Given the description of an element on the screen output the (x, y) to click on. 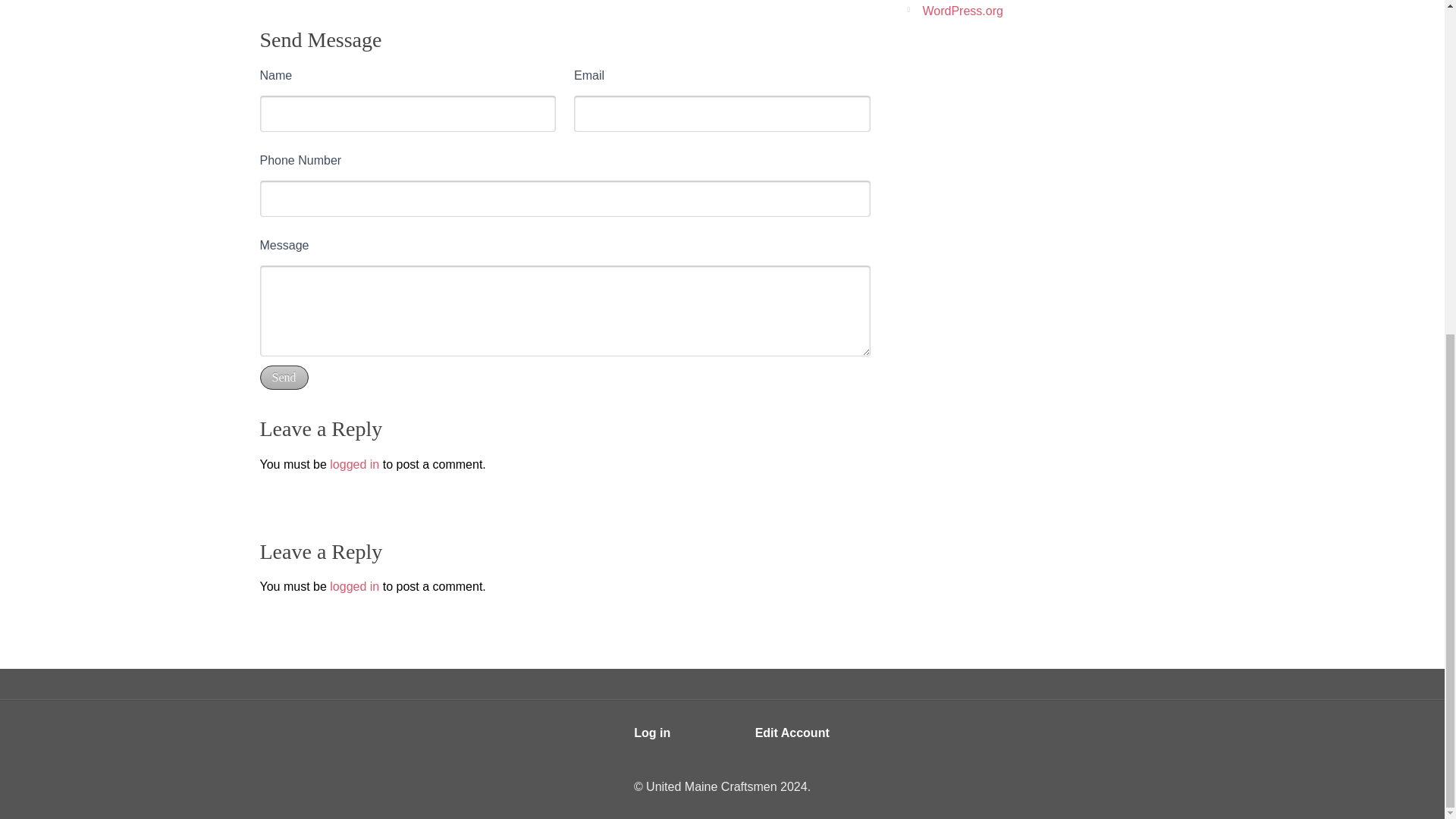
Edit Account (791, 732)
WordPress.org (962, 10)
Log in (651, 732)
Send (283, 377)
logged in (354, 585)
logged in (354, 463)
Send (283, 377)
